Given the description of an element on the screen output the (x, y) to click on. 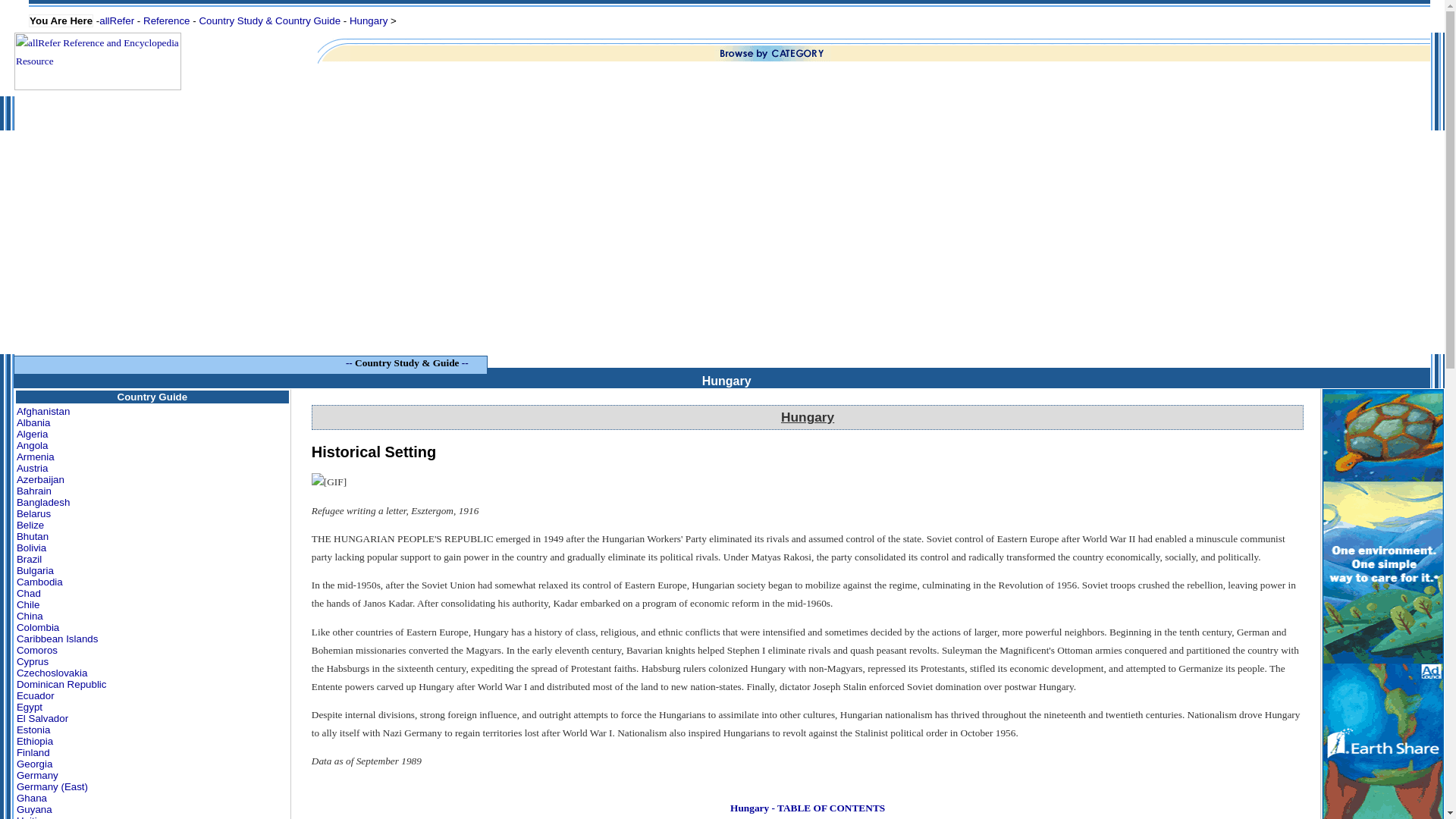
Chad Element type: text (28, 593)
El Salvador Element type: text (42, 718)
Germany (East) Element type: text (51, 786)
allRefer Element type: text (116, 20)
You Are Here Element type: text (60, 19)
Cambodia Element type: text (39, 581)
Bhutan Element type: text (32, 536)
Hungary Element type: text (368, 20)
Brazil Element type: text (28, 558)
Ecuador Element type: text (35, 695)
Caribbean Islands Element type: text (56, 638)
Ghana Element type: text (31, 797)
Germany Element type: text (37, 775)
Finland Element type: text (33, 752)
Czechoslovakia Element type: text (51, 672)
Hungary - TABLE OF CONTENTS Element type: text (807, 807)
Afghanistan Element type: text (42, 411)
Chile Element type: text (27, 604)
Colombia Element type: text (37, 627)
Austria Element type: text (31, 467)
Cyprus Element type: text (32, 661)
Albania Element type: text (33, 422)
Advertisement Element type: hover (721, 247)
Bolivia Element type: text (31, 547)
Belize Element type: text (29, 524)
Bangladesh Element type: text (42, 502)
Armenia Element type: text (35, 456)
Egypt Element type: text (29, 706)
Estonia Element type: text (33, 729)
Azerbaijan Element type: text (40, 479)
China Element type: text (29, 615)
Guyana Element type: text (34, 809)
Hungary Element type: text (726, 380)
Ethiopia Element type: text (34, 740)
Country Study & Guide Element type: text (406, 362)
Bahrain Element type: text (33, 490)
Angola Element type: text (32, 445)
Comoros Element type: text (36, 649)
Reference Element type: text (166, 20)
Dominican Republic Element type: text (61, 684)
Algeria Element type: text (32, 433)
Bulgaria Element type: text (34, 570)
Country Study & Country Guide Element type: text (269, 20)
Georgia Element type: text (34, 763)
Belarus Element type: text (33, 513)
